Given the description of an element on the screen output the (x, y) to click on. 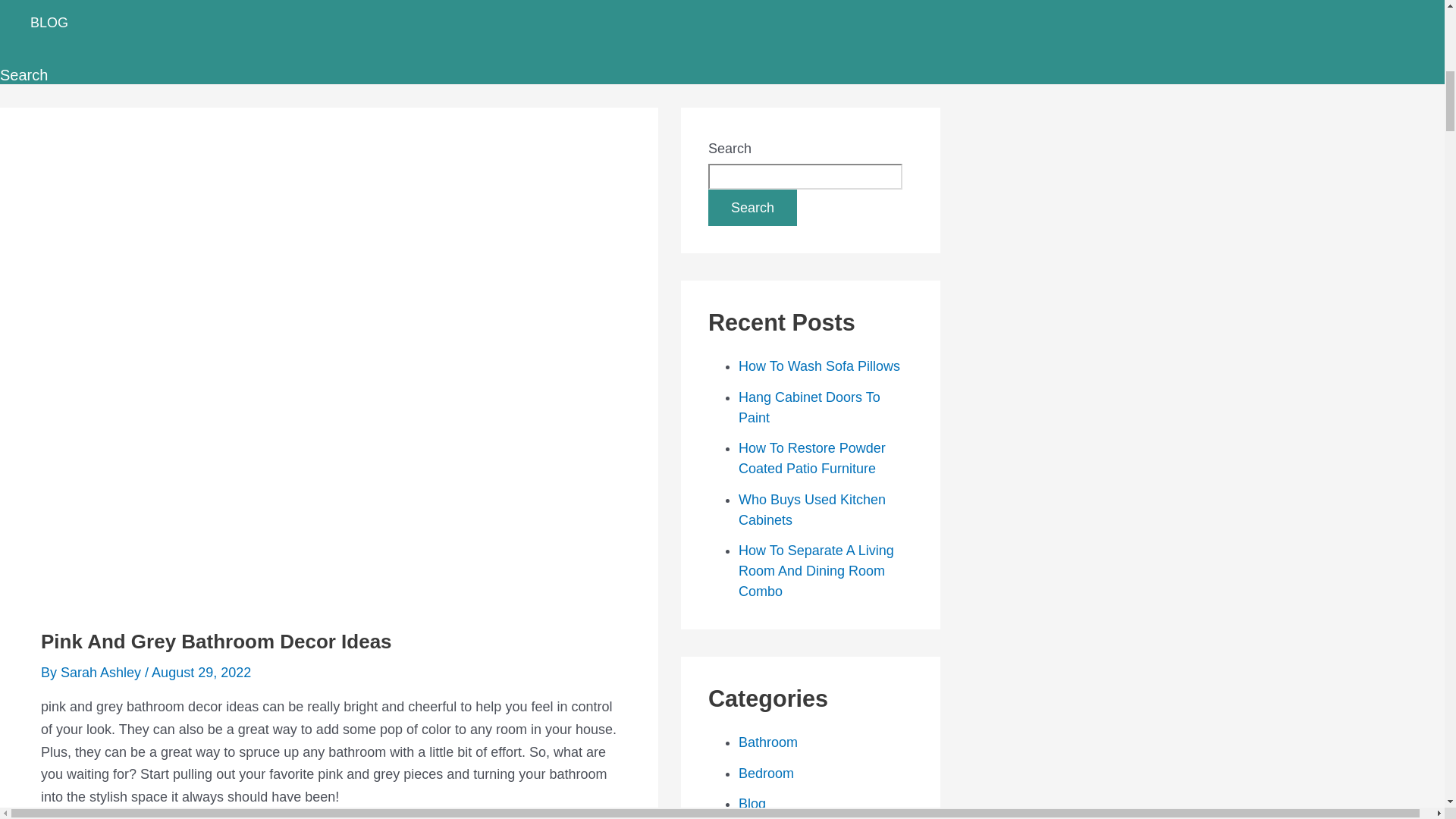
View all posts by Sarah Ashley (102, 672)
BLOG (116, 26)
How To Separate A Living Room And Dining Room Combo (815, 570)
Search (24, 75)
Sarah Ashley (102, 672)
How To Restore Powder Coated Patio Furniture  (811, 457)
Search (751, 207)
Who Buys Used Kitchen Cabinets (811, 509)
Hang Cabinet Doors To Paint (809, 407)
How To Wash Sofa Pillows (818, 365)
